Given the description of an element on the screen output the (x, y) to click on. 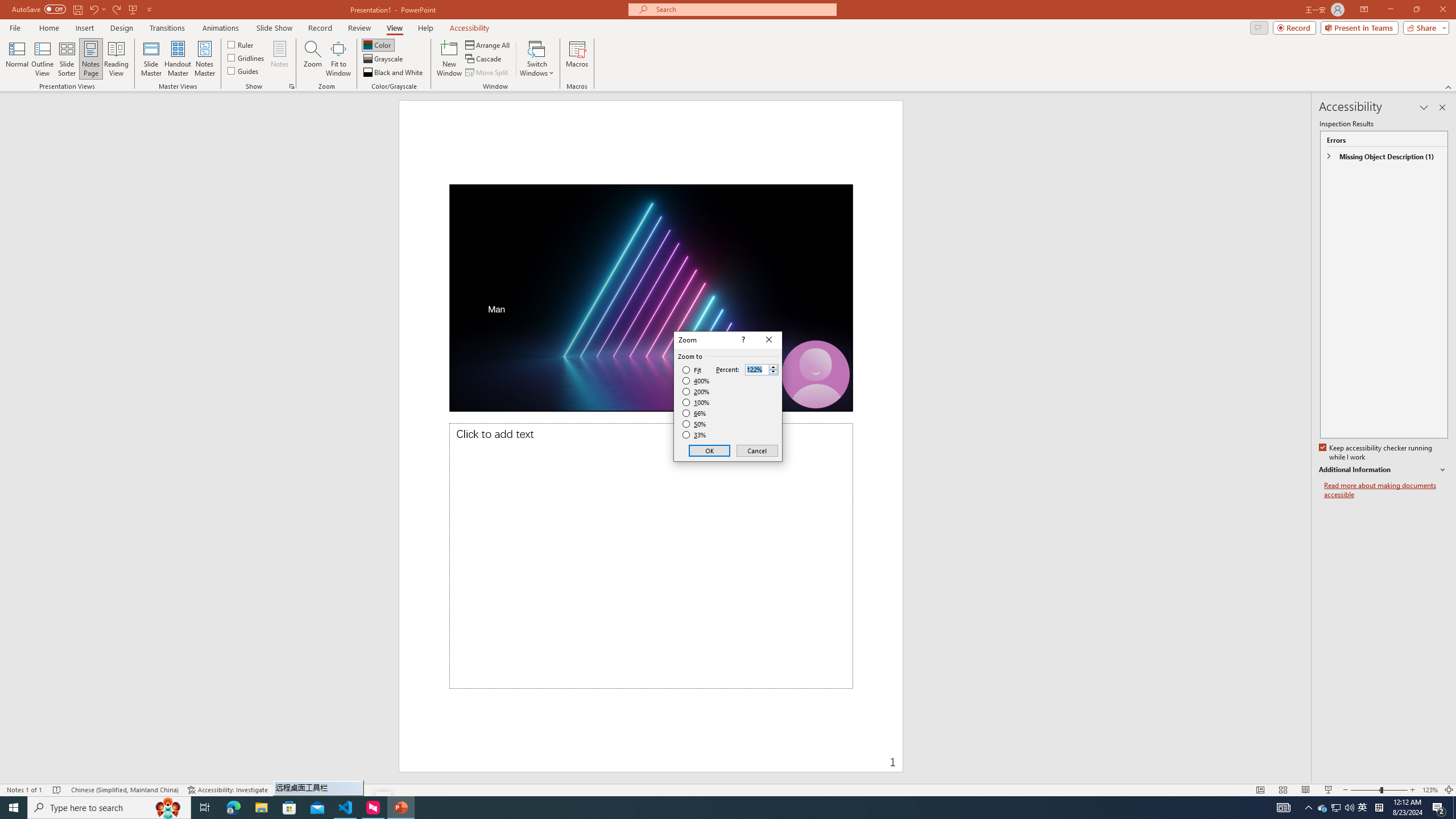
100% (696, 402)
Grid Settings... (291, 85)
